Given the description of an element on the screen output the (x, y) to click on. 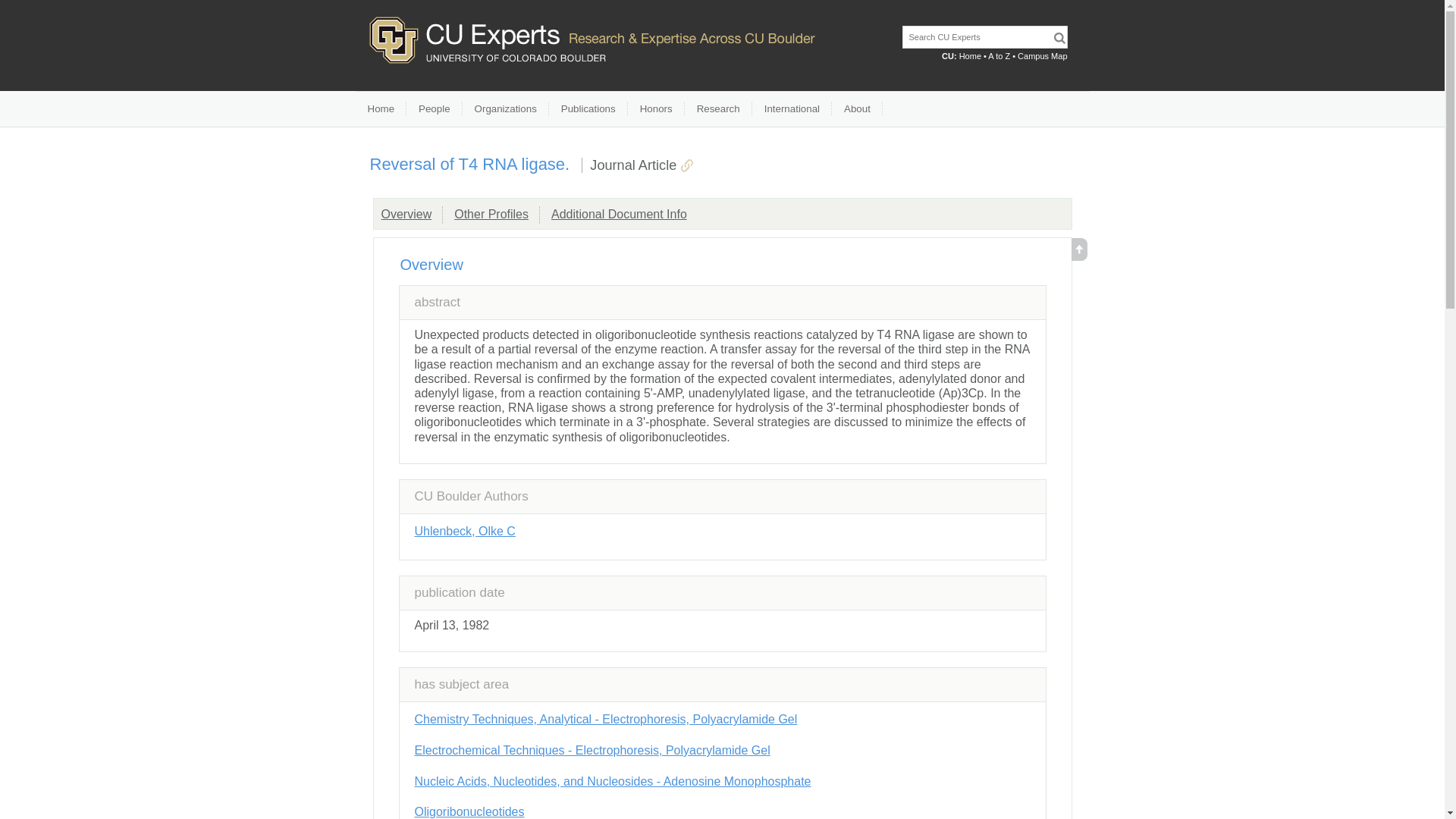
A to Z (999, 55)
Oligoribonucleotides (468, 811)
Other Profiles (491, 214)
Home (380, 108)
group name (491, 214)
Uhlenbeck, Olke C (464, 530)
menu item (434, 108)
scroll to property group menus (1078, 256)
menu item (587, 108)
